Given the description of an element on the screen output the (x, y) to click on. 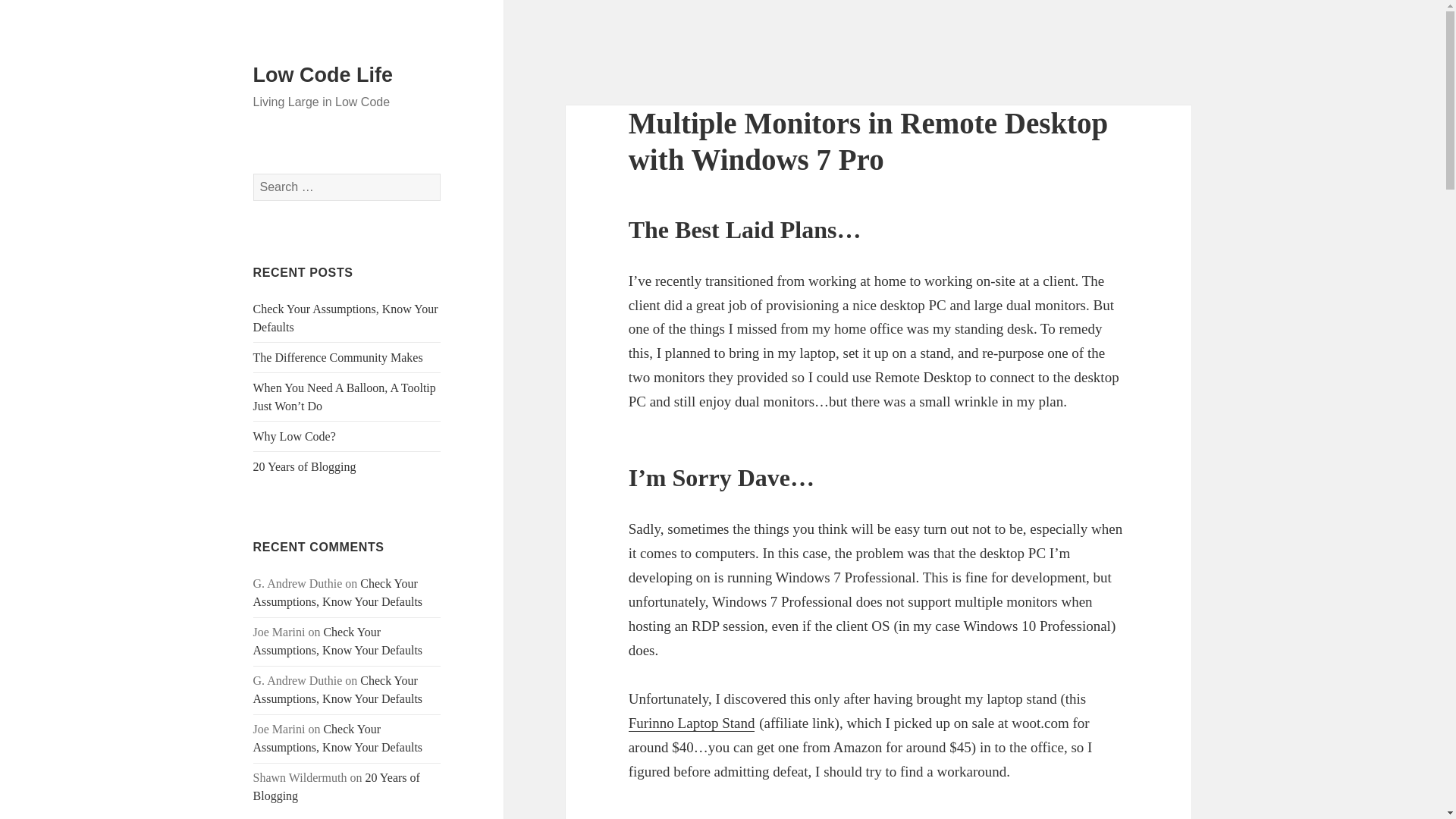
Low Code Life (323, 74)
Check Your Assumptions, Know Your Defaults (338, 640)
Why Low Code? (294, 436)
Check Your Assumptions, Know Your Defaults (338, 592)
Check Your Assumptions, Know Your Defaults (338, 689)
The Difference Community Makes (338, 357)
20 Years of Blogging (336, 786)
20 Years of Blogging (304, 466)
Check Your Assumptions, Know Your Defaults (338, 737)
Check Your Assumptions, Know Your Defaults (345, 317)
